Given the description of an element on the screen output the (x, y) to click on. 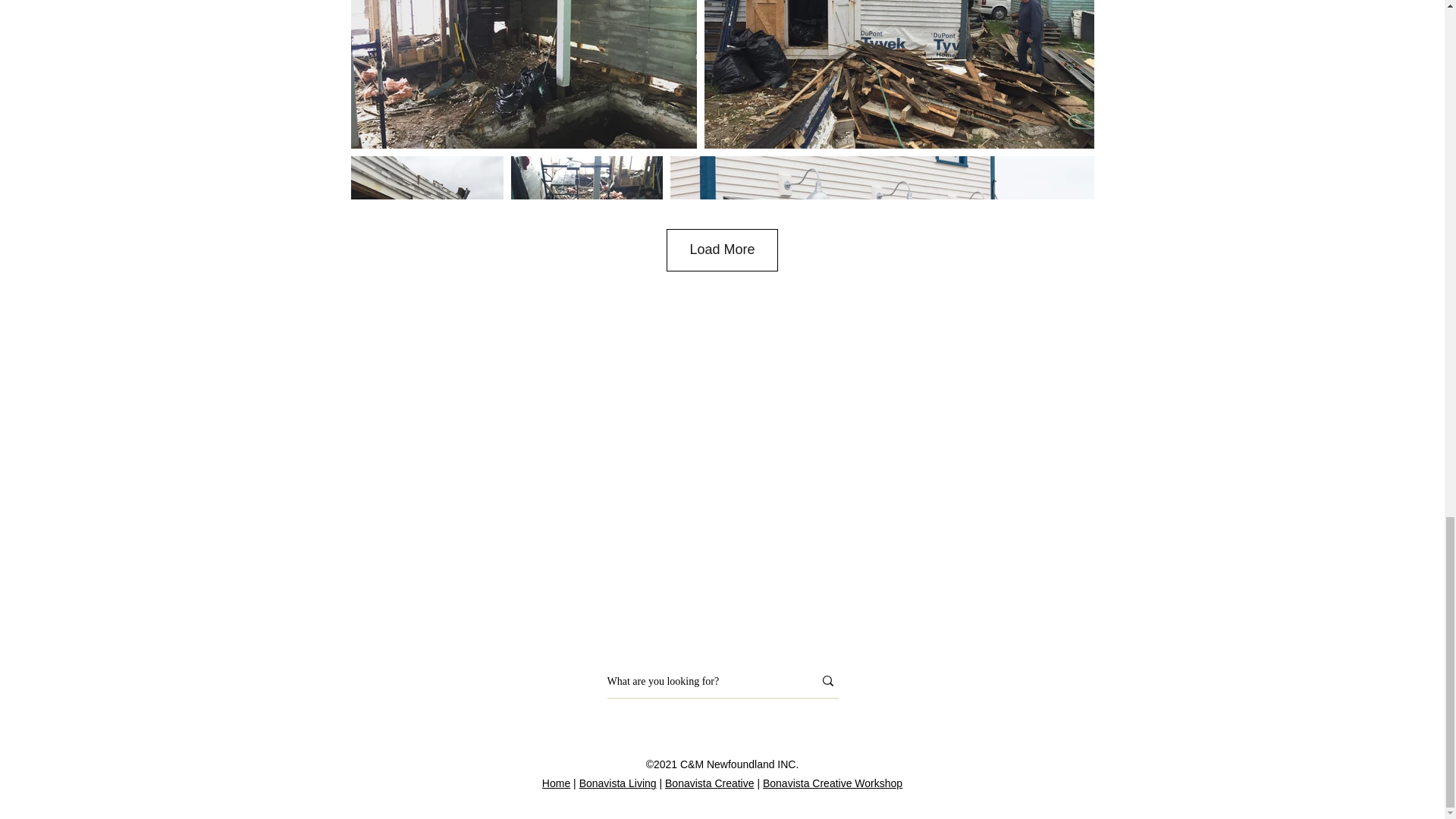
Bonavista Living (617, 783)
Bonavista Creative Workshop (832, 783)
Home (555, 783)
Bonavista Creative (709, 783)
Load More (721, 250)
